Given the description of an element on the screen output the (x, y) to click on. 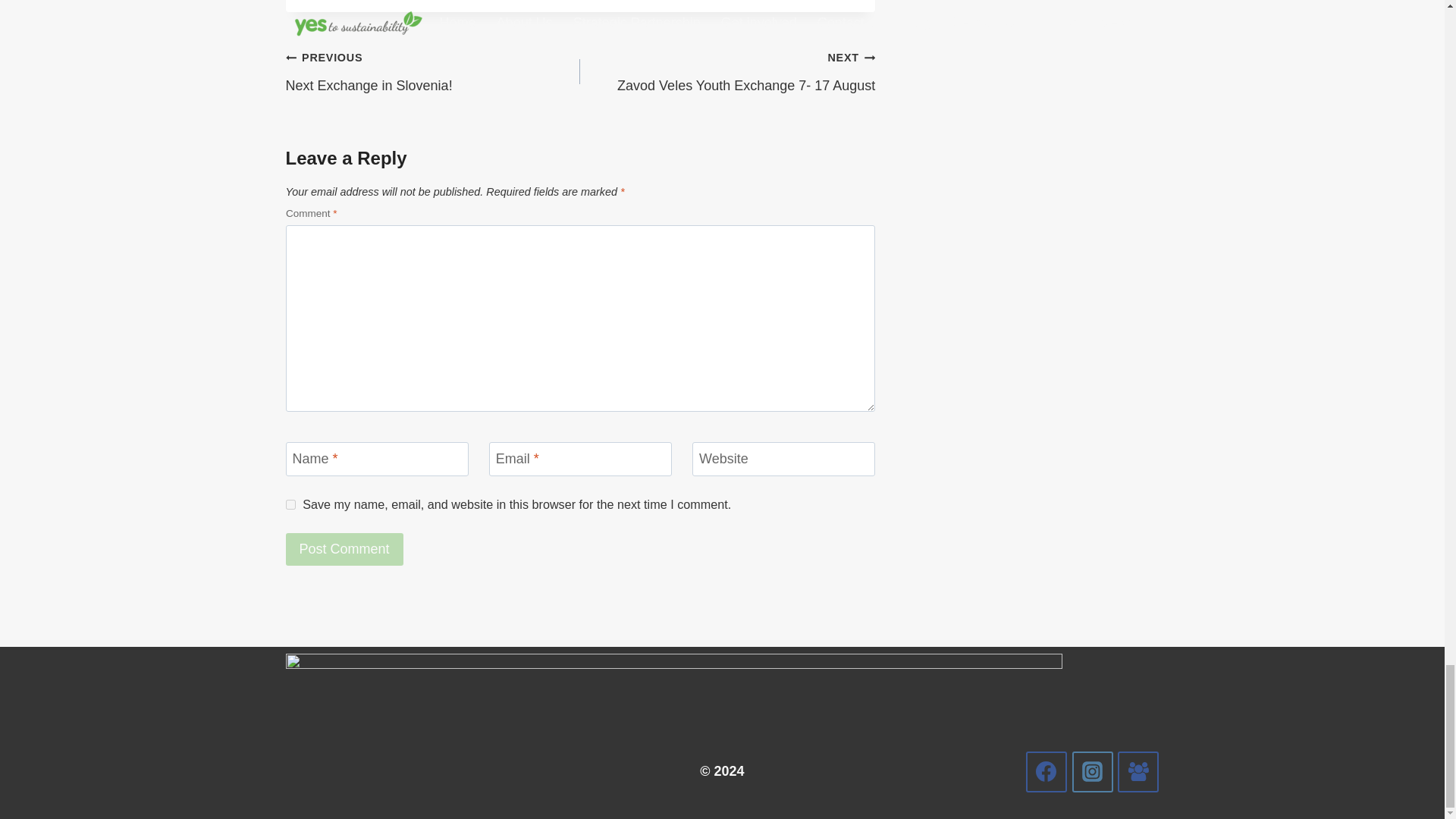
yes (432, 71)
Post Comment (290, 504)
Post Comment (344, 549)
